Given the description of an element on the screen output the (x, y) to click on. 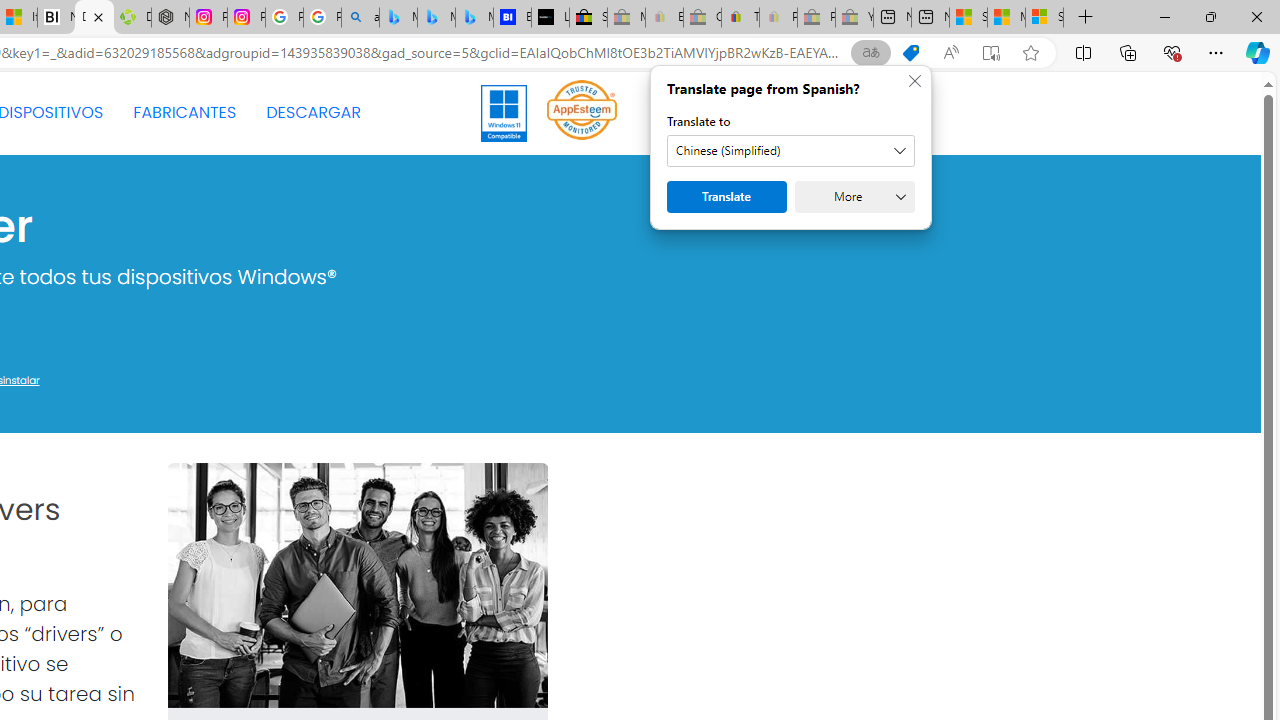
Payments Terms of Use | eBay.com - Sleeping (778, 17)
Microsoft Bing Travel - Flights from Hong Kong to Bangkok (398, 17)
